Given the description of an element on the screen output the (x, y) to click on. 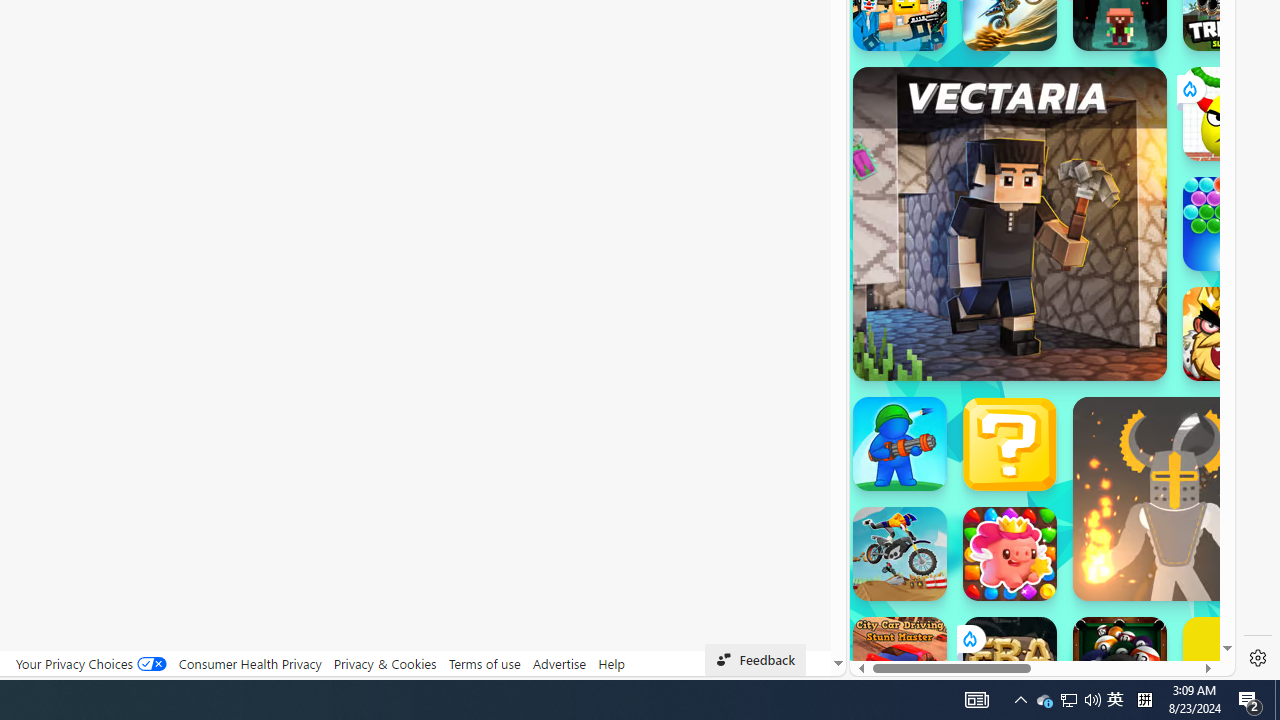
Search results from poki.com (1005, 59)
Ragdoll Hit (1174, 498)
Mystery Tile (1009, 443)
poki.com (1092, 338)
Vectaria.io Vectaria.io (1009, 223)
Era: Evolution (1009, 664)
Crazy Bikes Crazy Bikes (899, 553)
War Master (899, 443)
Hills of Steel (943, 300)
Bubble Shooter (1229, 223)
Vectaria.io (1009, 223)
